Given the description of an element on the screen output the (x, y) to click on. 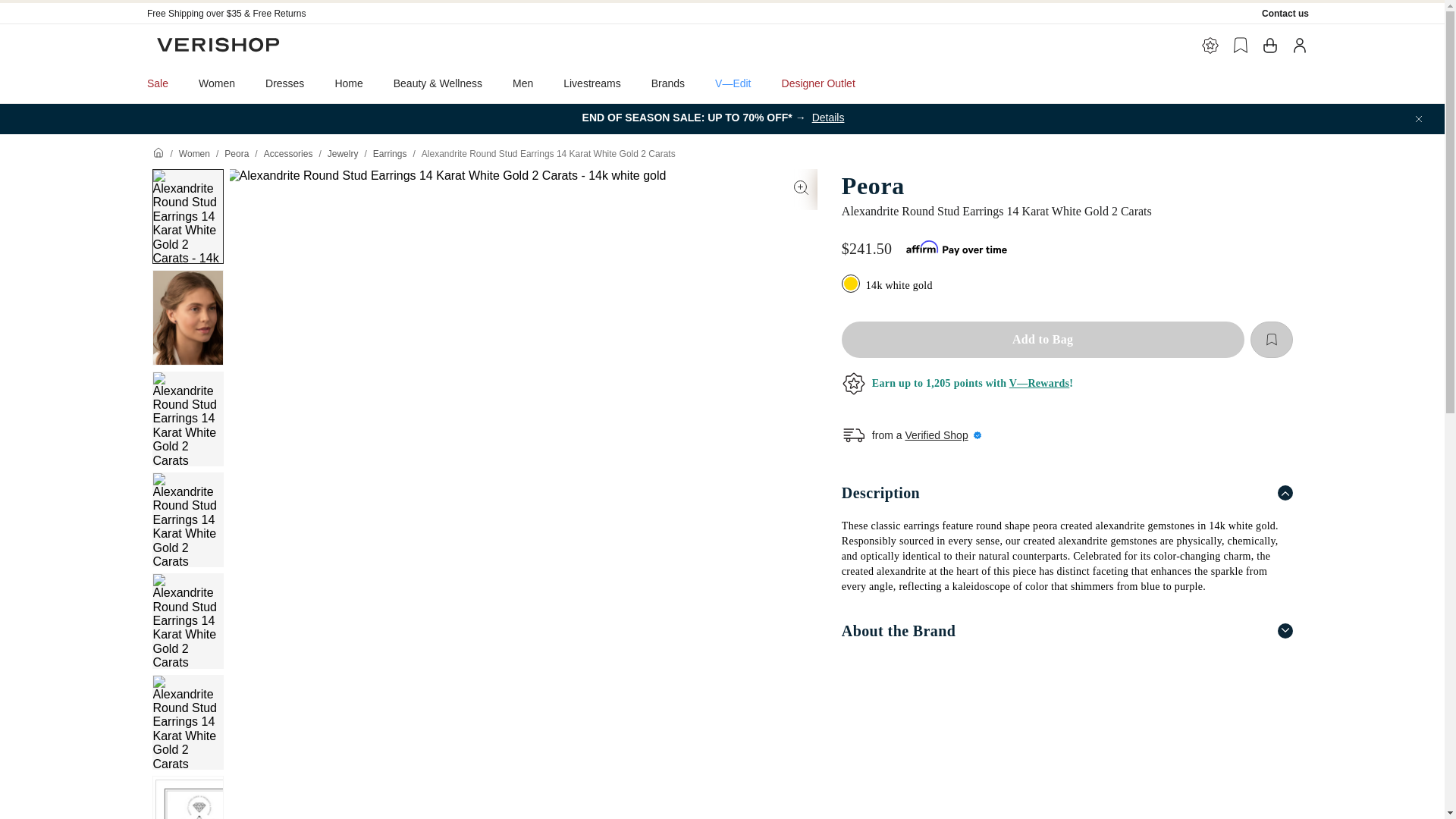
Add to Bag (1042, 339)
Women (194, 153)
Earrings (389, 153)
Jewelry (342, 153)
skip to main content (53, 6)
Peora (1066, 185)
Dresses (284, 82)
Livestreams (591, 82)
Contact us (1285, 13)
Peora (236, 153)
14k white gold (852, 285)
Brands (668, 82)
Contact us (1285, 13)
Designer Outlet (818, 82)
Accessories (288, 153)
